Given the description of an element on the screen output the (x, y) to click on. 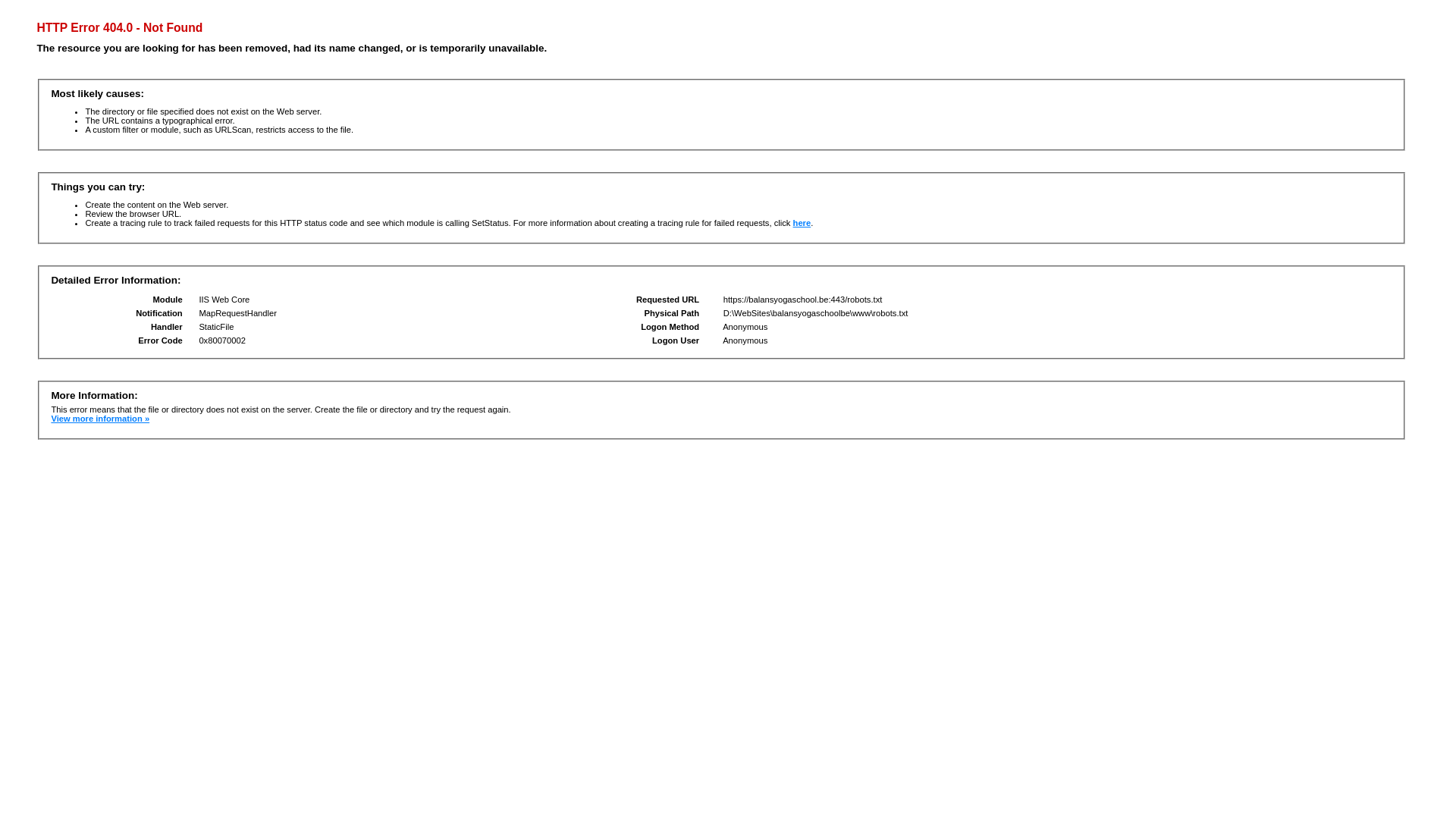
here Element type: text (802, 222)
